Given the description of an element on the screen output the (x, y) to click on. 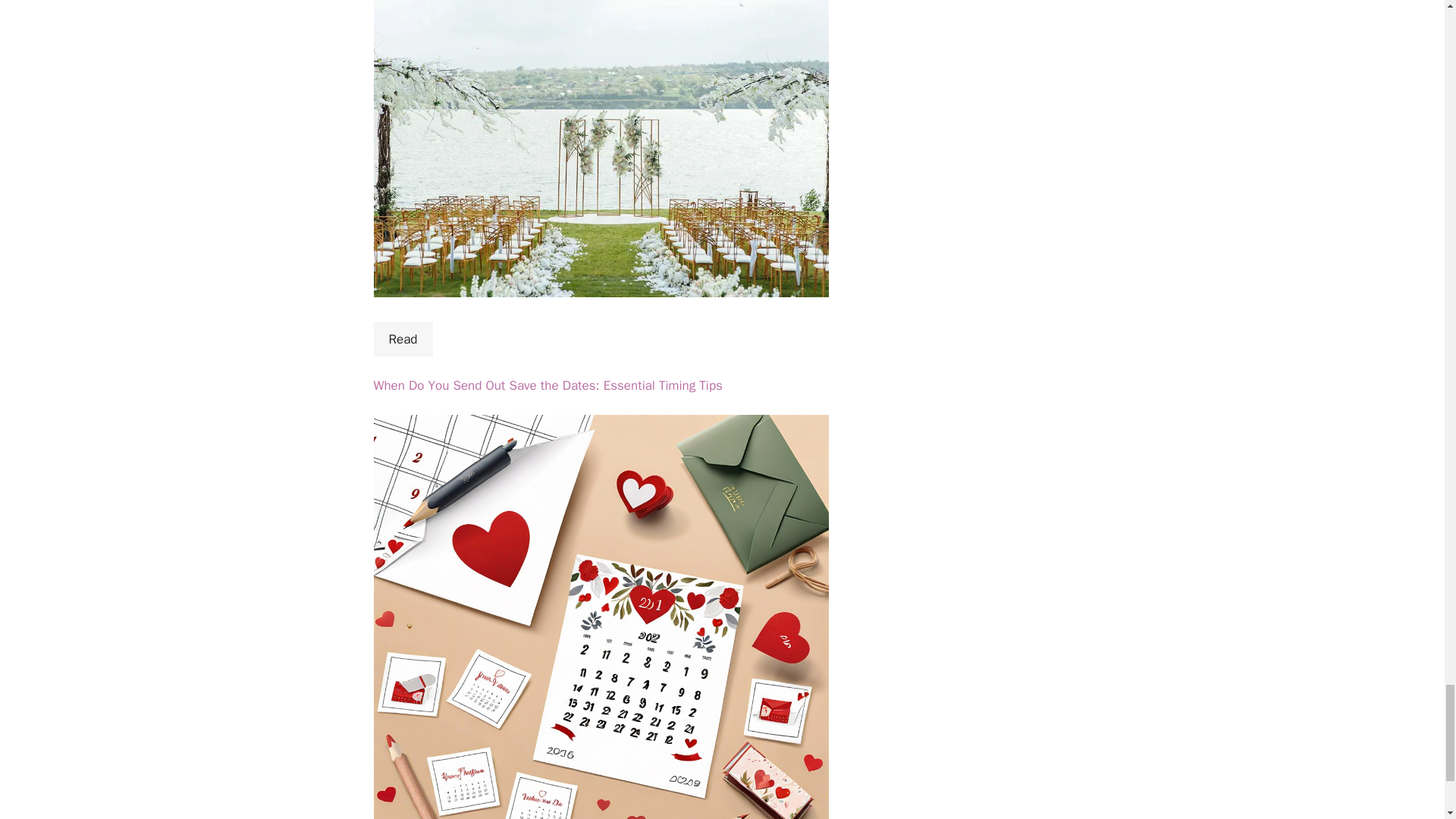
When Do You Send Out Save the Dates: Essential Timing Tips (547, 385)
Read (402, 339)
When Do You Send Out Save the Dates: Essential Timing Tips (547, 385)
